Given the description of an element on the screen output the (x, y) to click on. 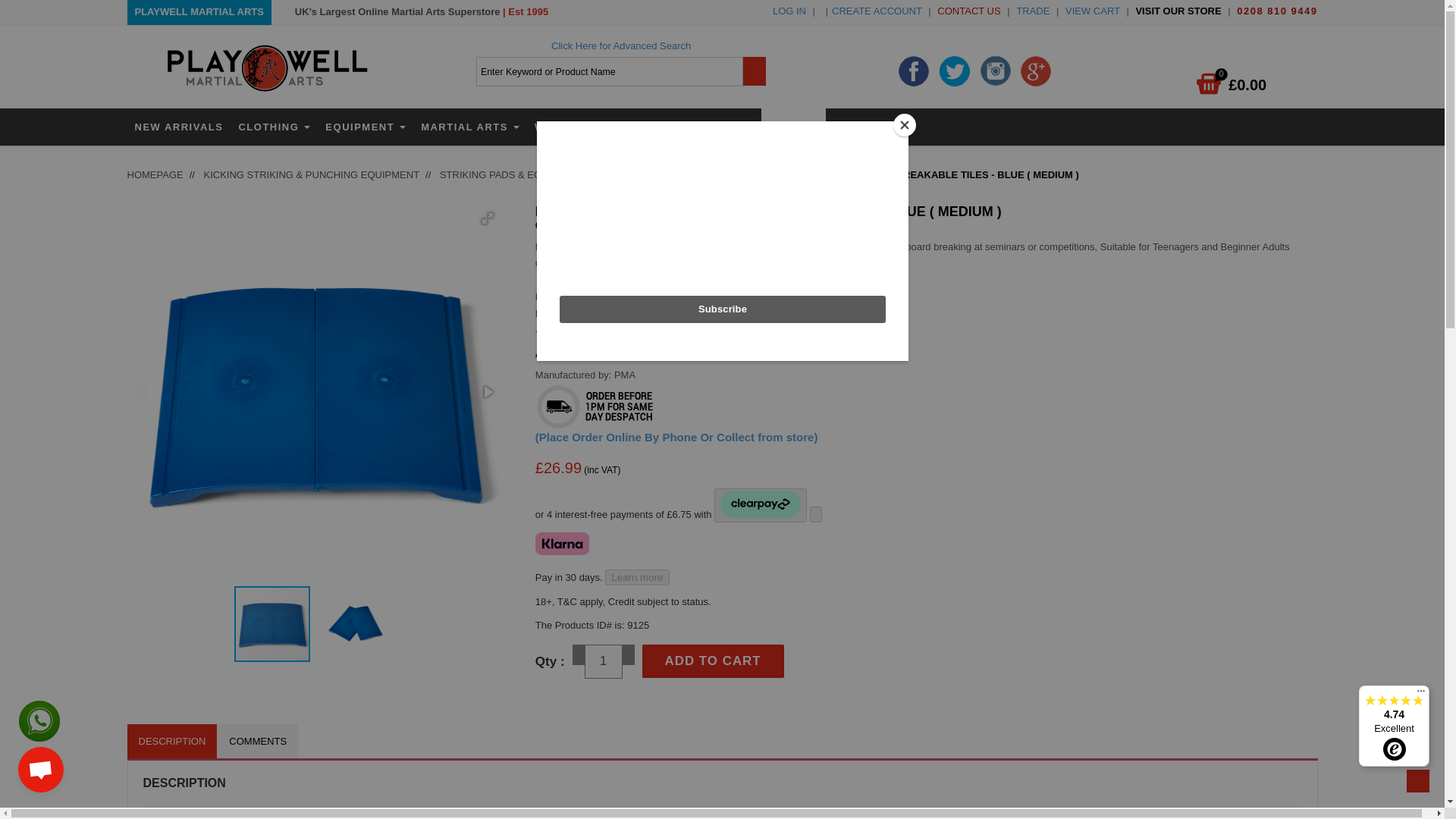
VISIT OUR STORE (1178, 10)
VIEW CART (1092, 10)
CONTACT US (968, 10)
0208 810 9449 (1276, 10)
Twitter (954, 69)
CREATE ACCOUNT (876, 10)
Add to Cart (713, 661)
Enter Keyword or Product Name (609, 71)
1 (604, 661)
Instagram (994, 69)
Facebbok (913, 69)
LOG IN (791, 10)
Click Here for Advanced Search (620, 45)
NEW ARRIVALS (179, 126)
CLOTHING (273, 126)
